Given the description of an element on the screen output the (x, y) to click on. 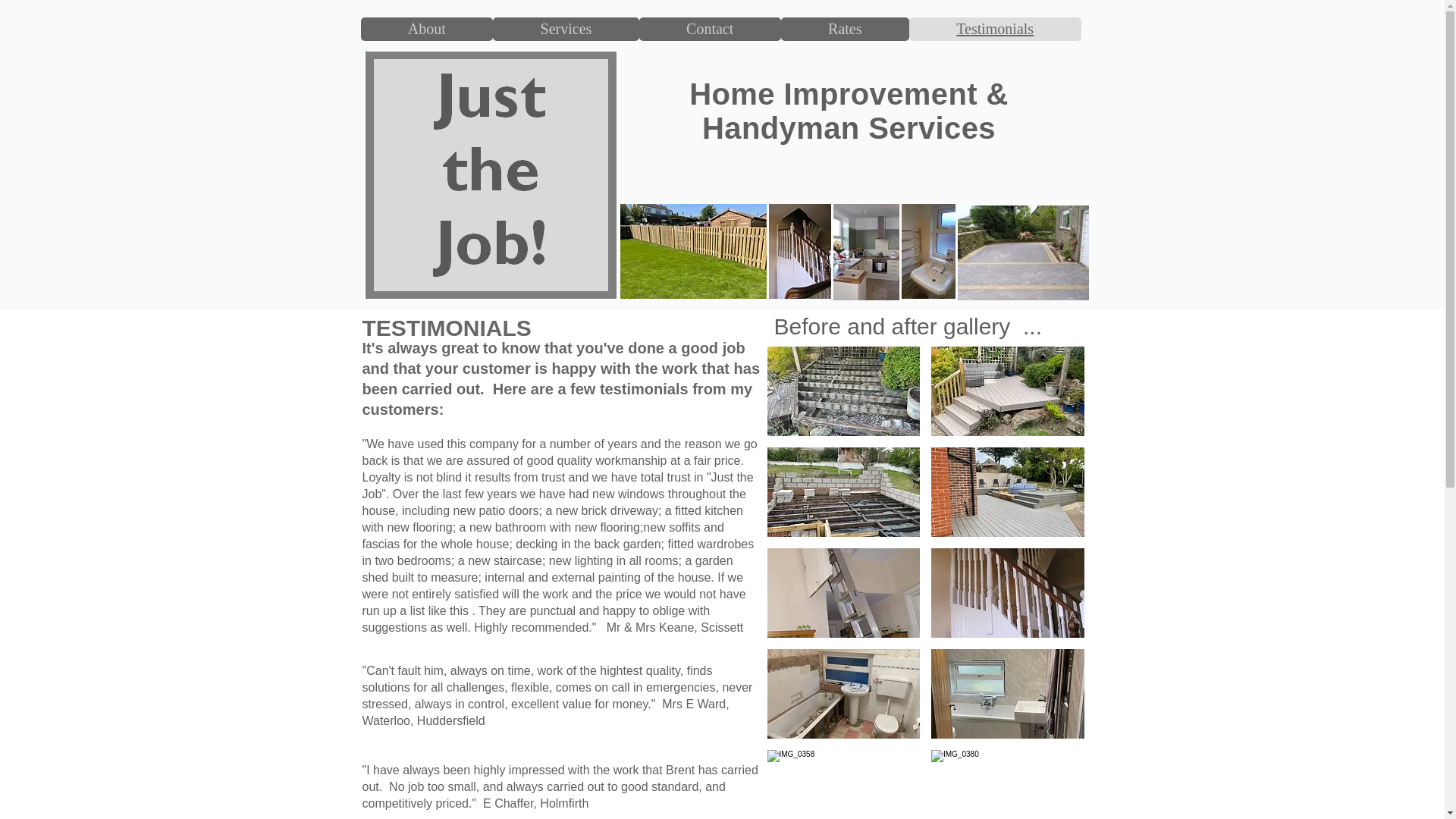
Contact (709, 28)
Rates (844, 28)
Capture.PNG (490, 174)
Services (566, 28)
About (427, 28)
Testimonials (994, 28)
